Given the description of an element on the screen output the (x, y) to click on. 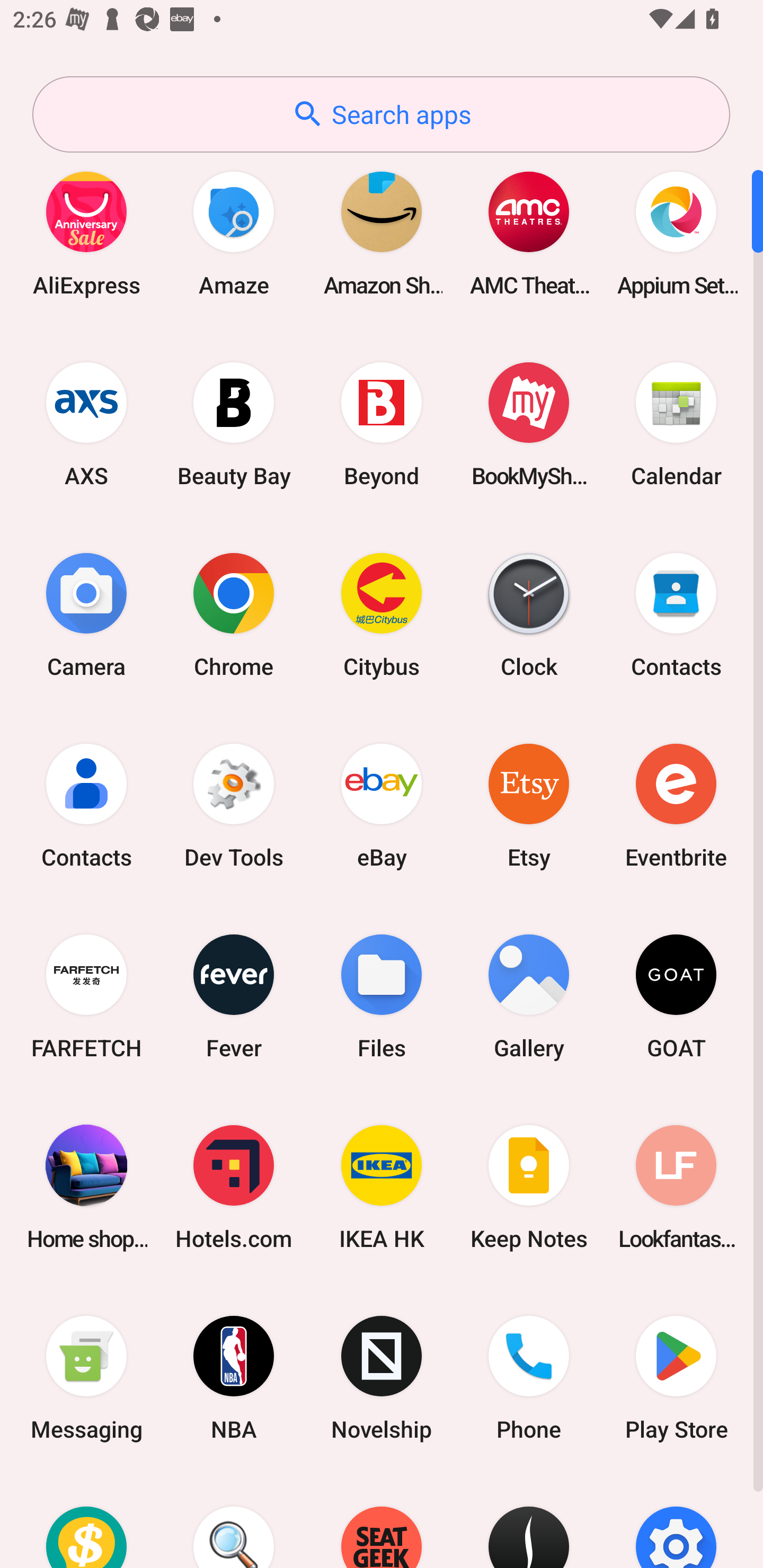
  Search apps (381, 114)
AliExpress (86, 233)
Amaze (233, 233)
Amazon Shopping (381, 233)
AMC Theatres (528, 233)
Appium Settings (676, 233)
AXS (86, 424)
Beauty Bay (233, 424)
Beyond (381, 424)
BookMyShow (528, 424)
Calendar (676, 424)
Camera (86, 614)
Chrome (233, 614)
Citybus (381, 614)
Clock (528, 614)
Contacts (676, 614)
Contacts (86, 805)
Dev Tools (233, 805)
eBay (381, 805)
Etsy (528, 805)
Eventbrite (676, 805)
FARFETCH (86, 996)
Fever (233, 996)
Files (381, 996)
Gallery (528, 996)
GOAT (676, 996)
Home shopping (86, 1186)
Hotels.com (233, 1186)
IKEA HK (381, 1186)
Keep Notes (528, 1186)
Lookfantastic (676, 1186)
Messaging (86, 1377)
NBA (233, 1377)
Novelship (381, 1377)
Phone (528, 1377)
Play Store (676, 1377)
